Given the description of an element on the screen output the (x, y) to click on. 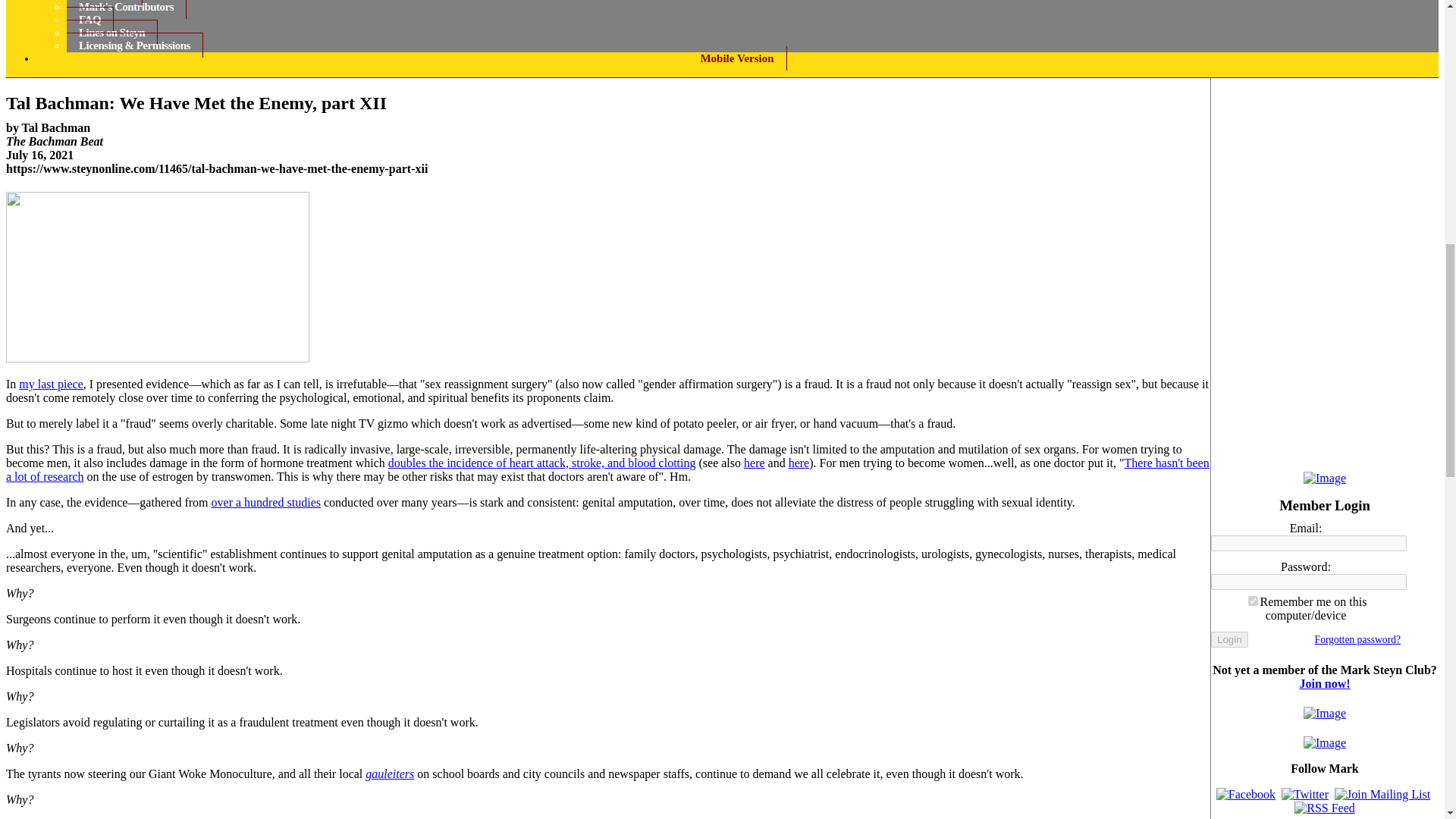
Login (1229, 639)
persist (1252, 601)
Facebook (1245, 794)
Join Mailing List (1382, 794)
RSS Feed (1324, 807)
Twitter (1304, 794)
